Given the description of an element on the screen output the (x, y) to click on. 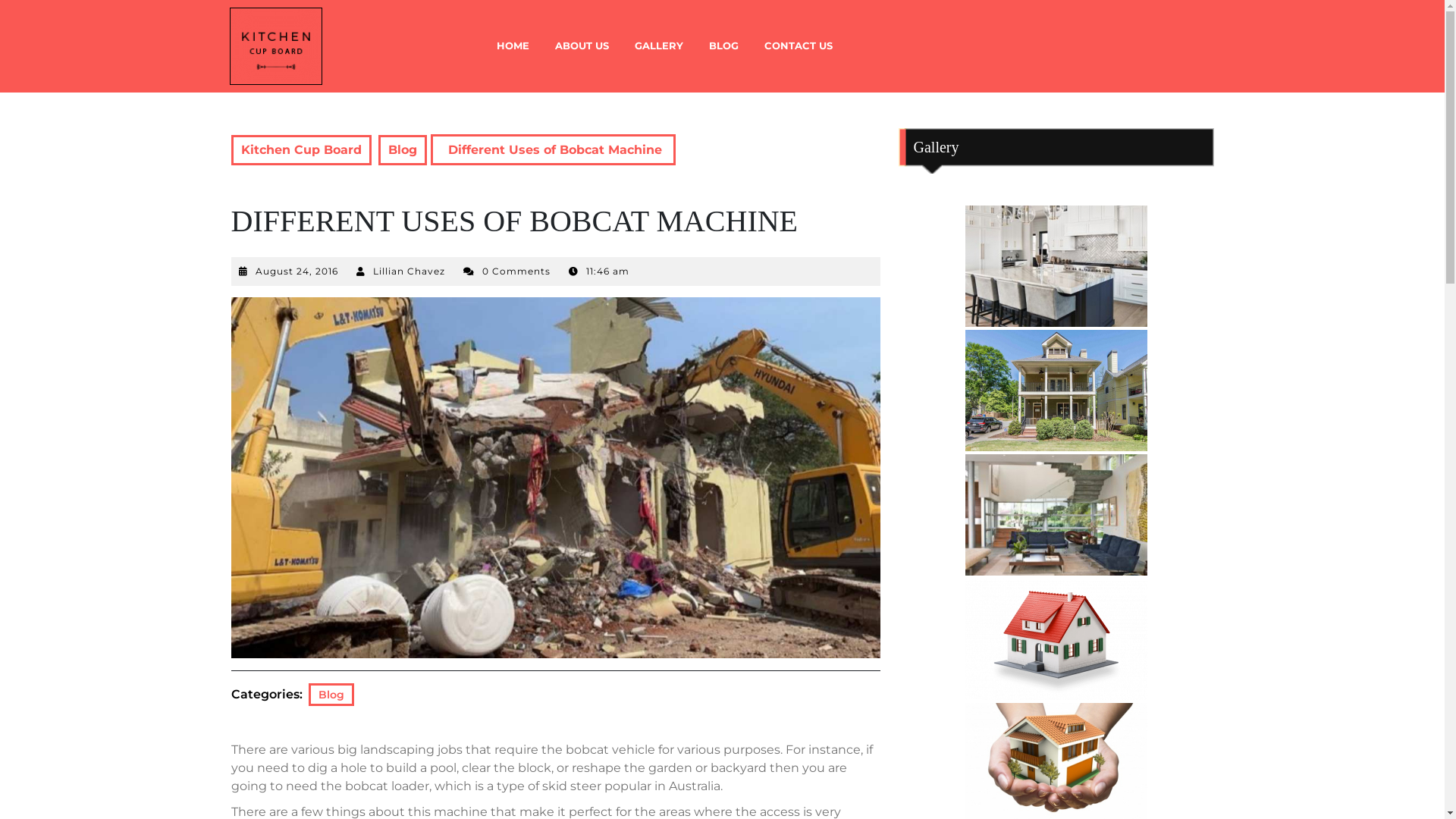
Lillian Chavez Element type: text (409, 270)
Blog Element type: text (401, 149)
2 Element type: hover (1055, 390)
August 24, 2016
August 24, 2016 Element type: text (295, 270)
Blog Element type: text (330, 694)
HOME Element type: text (512, 46)
ABOUT US Element type: text (580, 46)
BLOG Element type: text (723, 46)
4 Element type: hover (1055, 638)
3 Element type: hover (1055, 514)
GALLERY Element type: text (658, 46)
Kitchen Cup Board Element type: text (300, 149)
1 Element type: hover (1055, 265)
CONTACT US Element type: text (797, 46)
